Given the description of an element on the screen output the (x, y) to click on. 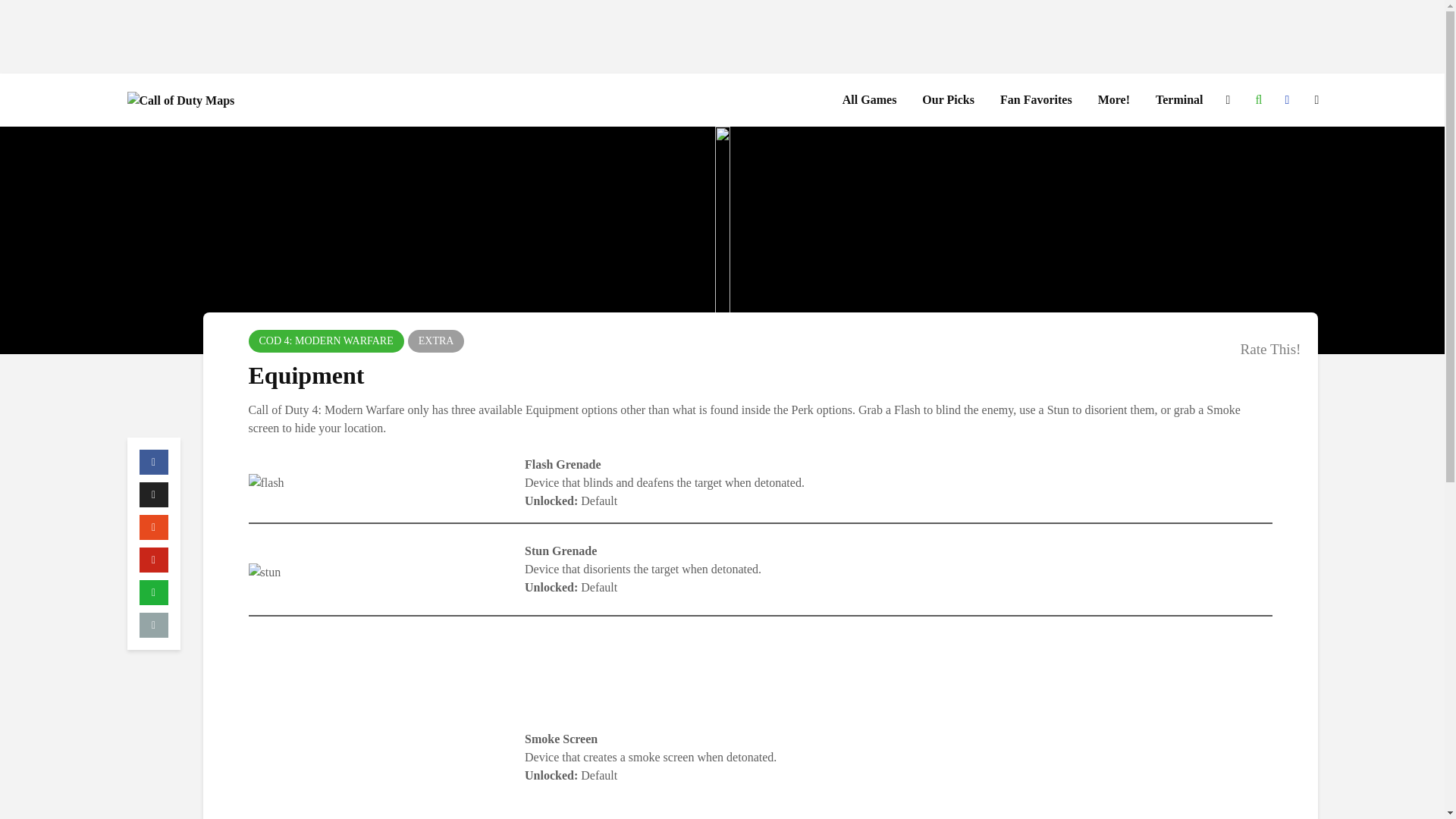
Our Picks (948, 100)
Fan Favorites (1035, 100)
All Games (869, 100)
